Given the description of an element on the screen output the (x, y) to click on. 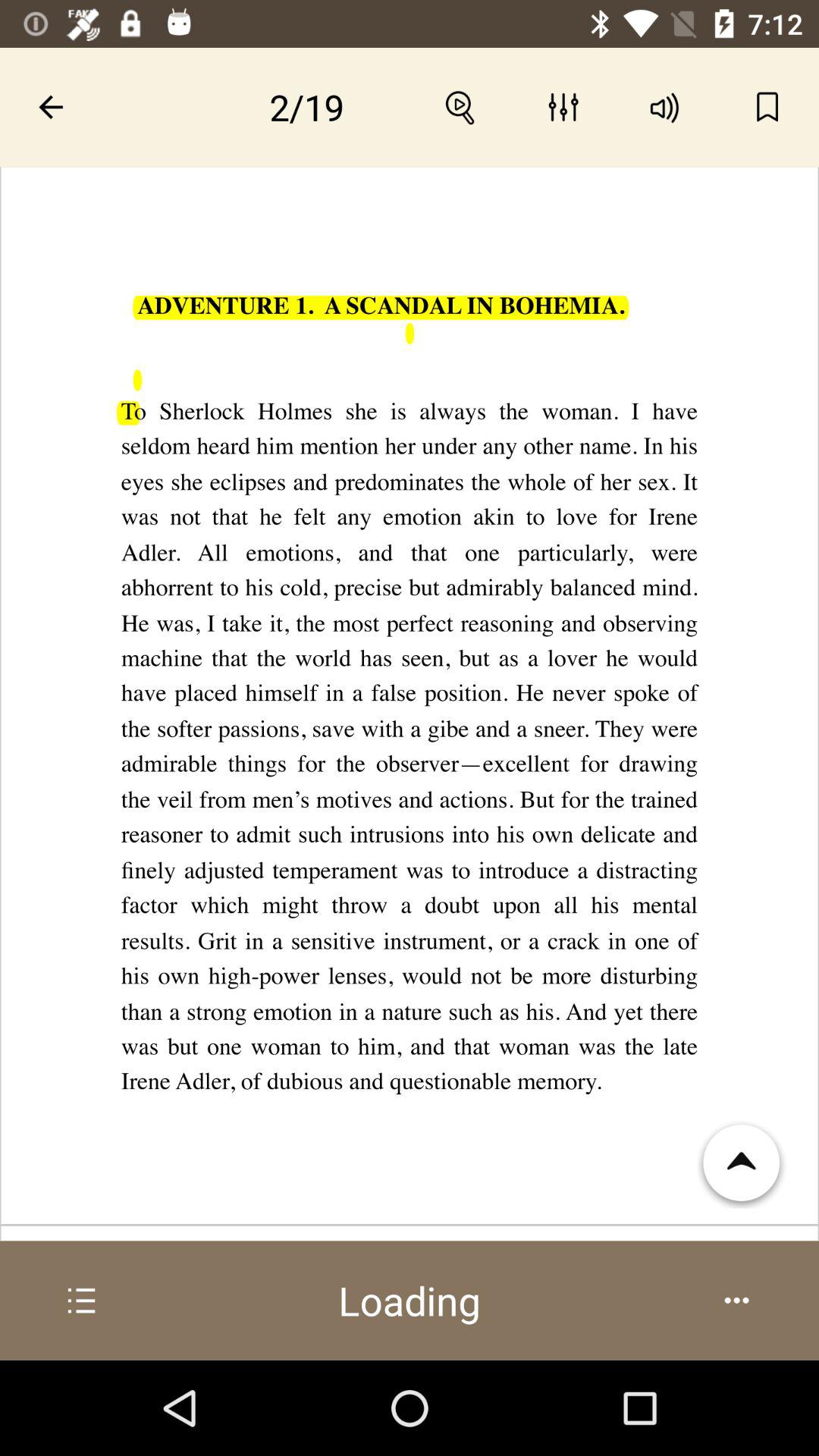
zoom in-out option (460, 106)
